Given the description of an element on the screen output the (x, y) to click on. 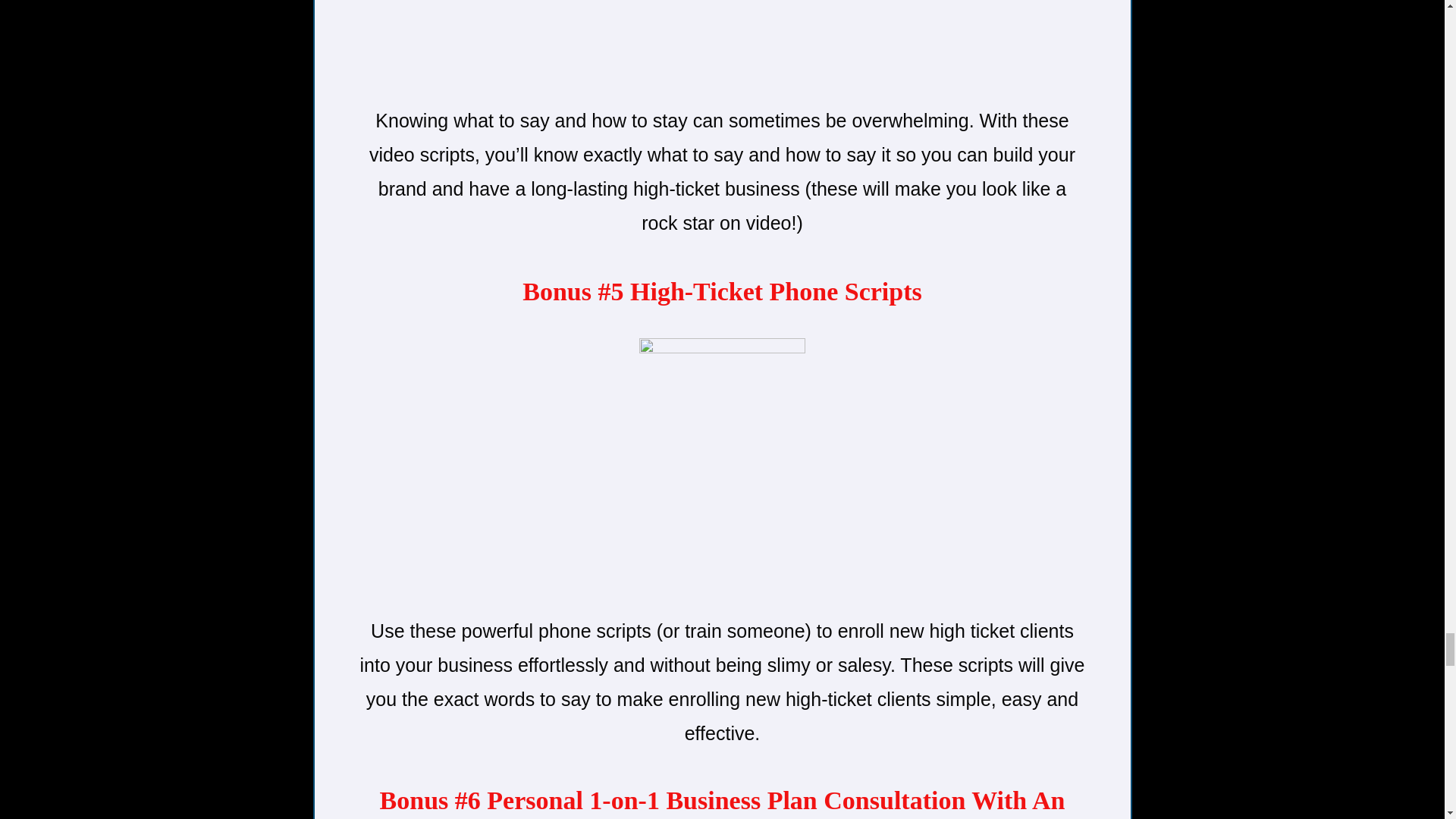
phone scripts (722, 467)
video scripts (722, 43)
